Given the description of an element on the screen output the (x, y) to click on. 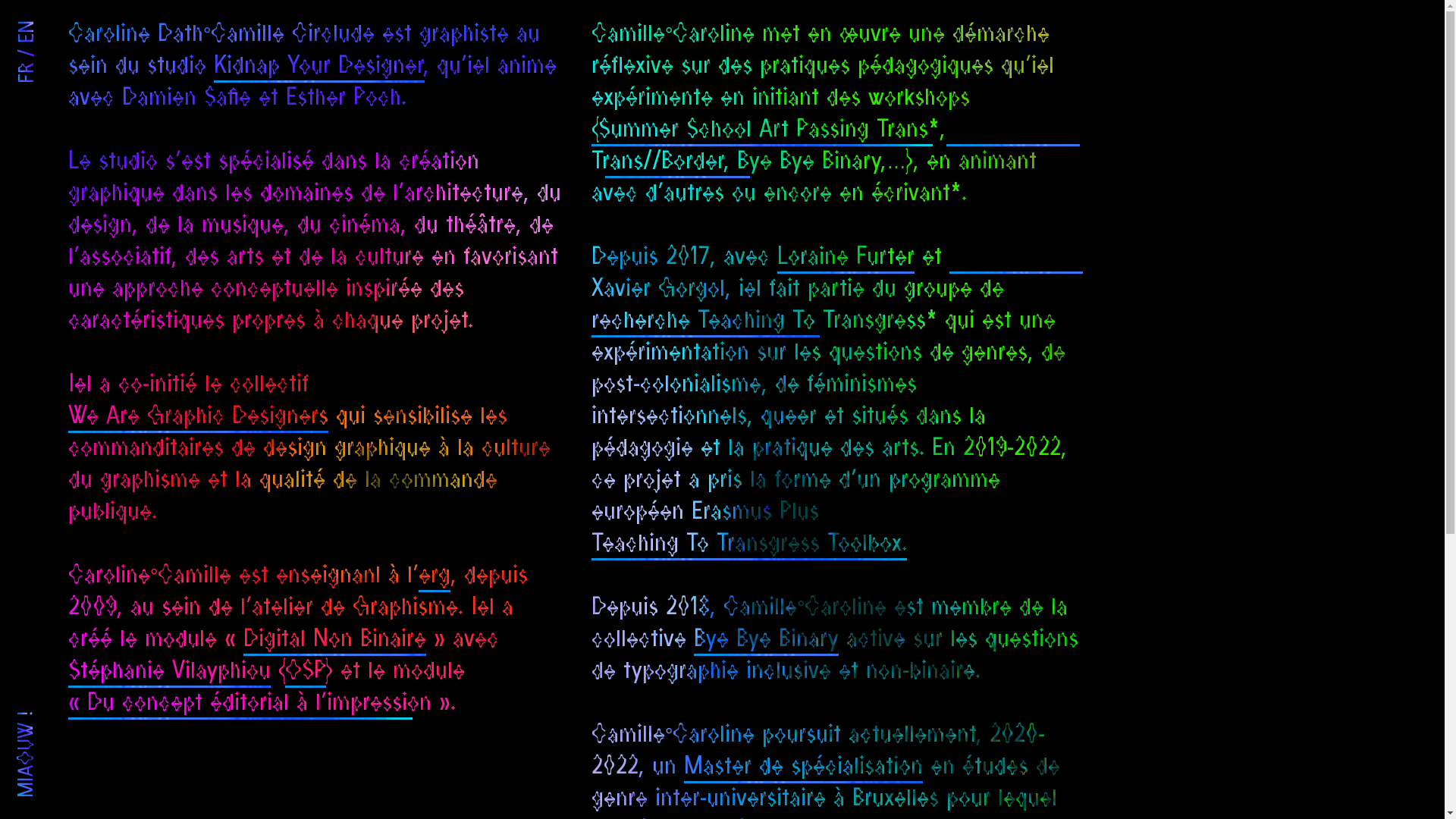
Teaching To Transgress Toolbox. Element type: text (748, 544)
Summer School Art Passing Trans* Element type: text (761, 130)
FR Element type: text (29, 70)
Bye Bye Binary Element type: text (808, 162)
Trans//Border Element type: text (657, 162)
Kidnap Your Designer Element type: text (318, 66)
Bye Bye Binary Element type: text (765, 639)
Xavier Gorgol Element type: text (657, 289)
EN Element type: text (30, 28)
Loraine Furter Element type: text (845, 257)
Digital Non Binaire Element type: text (334, 639)
Bye Bye Binary Element type: text (765, 639)
Loraine Furter Element type: text (845, 257)
Trans//Border Element type: text (1012, 130)
Summer School Art Passing Trans* Element type: text (768, 130)
erg Element type: text (434, 576)
OSP Element type: text (305, 671)
Kidnap Your Designer Element type: text (318, 66)
We Are Graphic Designers Element type: text (198, 417)
OSP Element type: text (305, 671)
erg Element type: text (434, 576)
Xavier Gorgol Element type: text (1015, 257)
MIAOUW ! Element type: text (62, 718)
We Are Graphic Designers Element type: text (198, 416)
Teaching To Transgress Element type: text (705, 321)
Teaching To Transgress Toolbox. Element type: text (748, 544)
Teaching To Transgress Element type: text (811, 321)
Digital Non Binaire Element type: text (334, 639)
Bye Bye Binary Element type: text (677, 162)
